Given the description of an element on the screen output the (x, y) to click on. 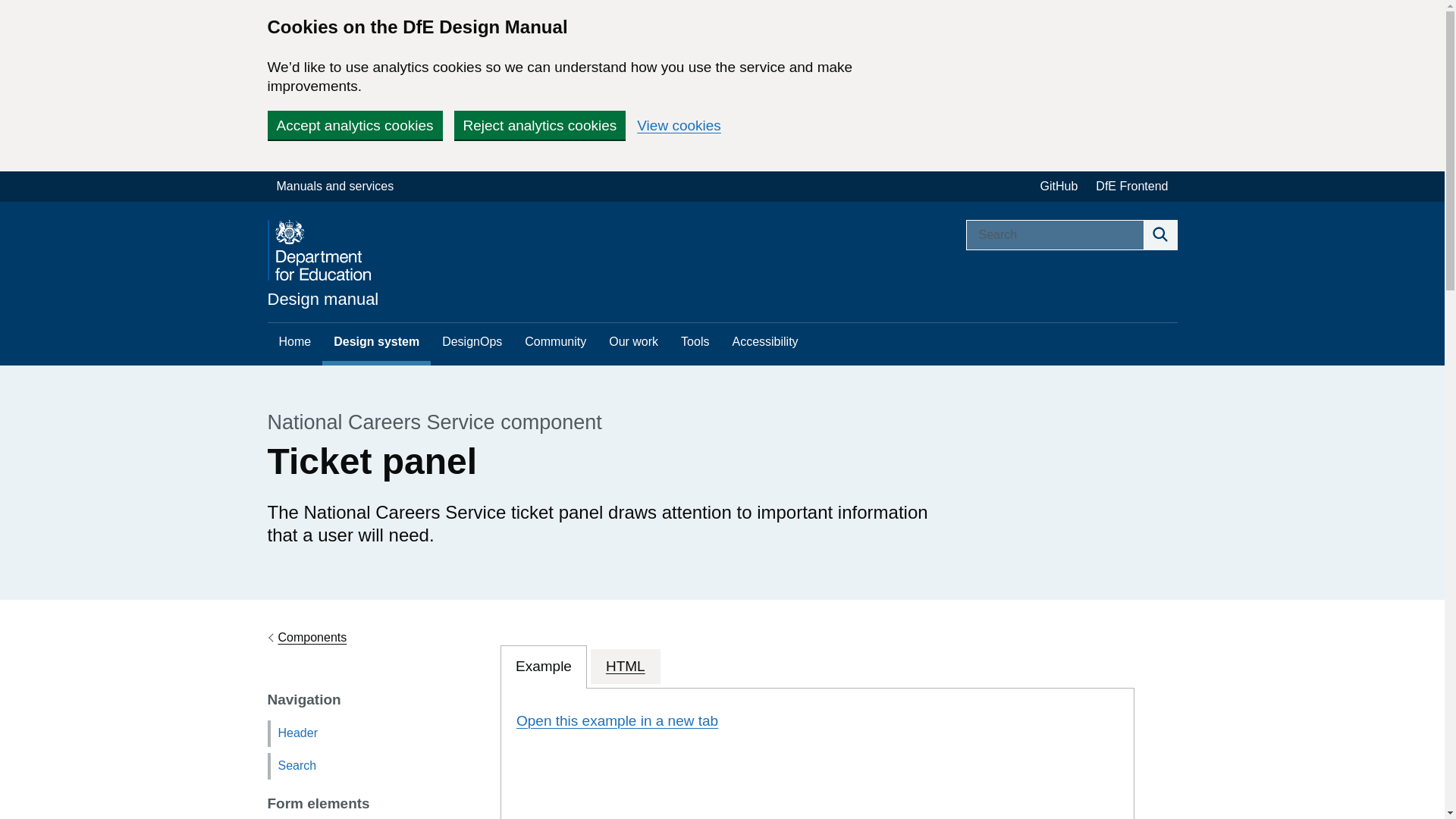
Accept analytics cookies (354, 124)
Search (1159, 235)
View cookies (678, 124)
Home (293, 341)
Header (373, 733)
Search (373, 765)
Community (554, 341)
Skip to main content (11, 179)
Design manual (322, 298)
Accessibility (764, 341)
